Given the description of an element on the screen output the (x, y) to click on. 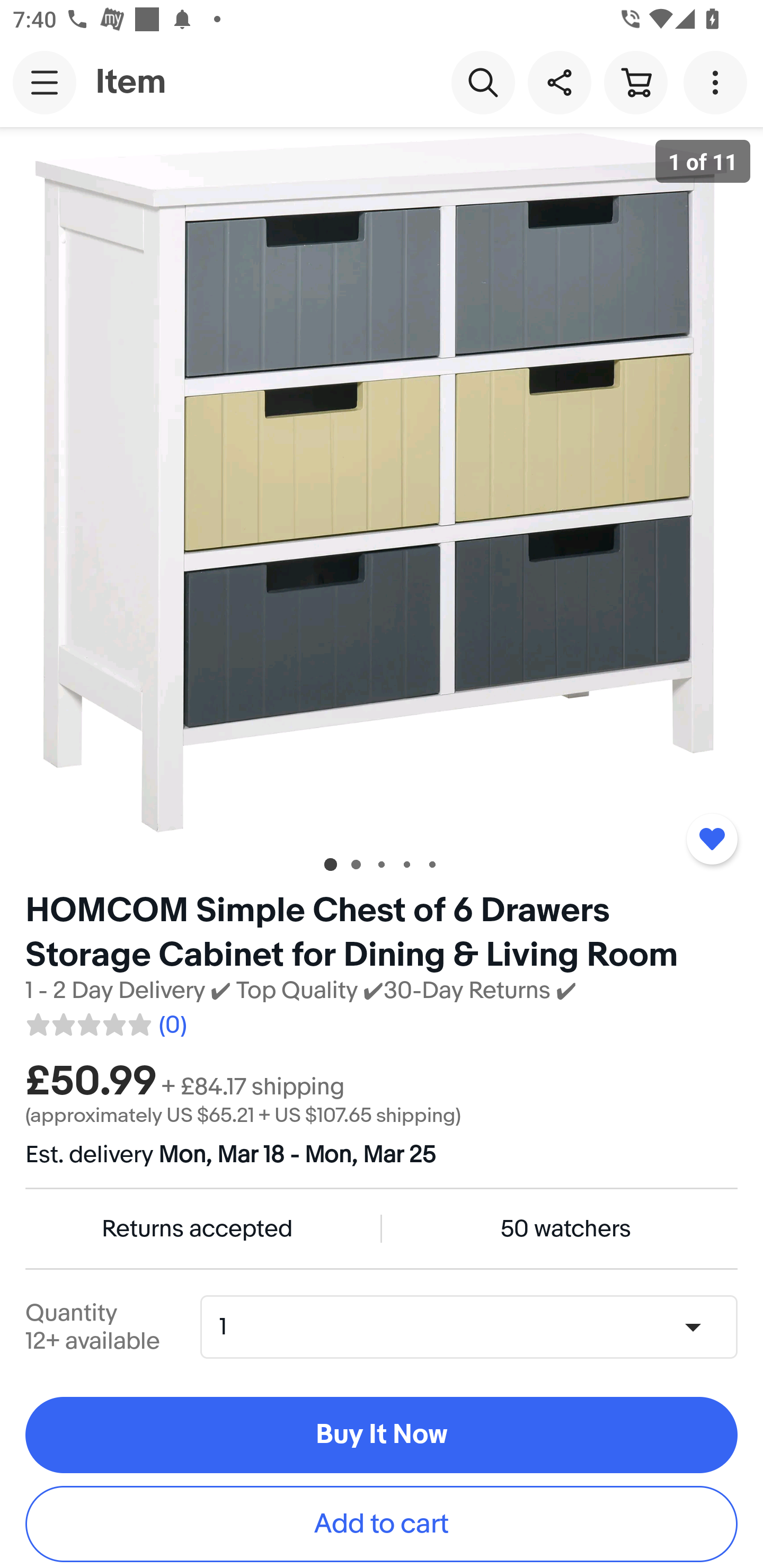
Main navigation, open (44, 82)
Search (482, 81)
Share this item (559, 81)
Cart button shopping cart (635, 81)
More options (718, 81)
Item image 1 of 11 (381, 482)
Added to watchlist (711, 838)
1 - 2 Day Delivery ✔ Top Quality ✔30-Day Returns ✔ (300, 990)
0 reviews. Average rating 0.0 out of five 0.0 (0) (105, 1021)
Quantity,1,12+ available 1 (474, 1326)
Buy It Now (381, 1435)
Add to cart (381, 1523)
